Given the description of an element on the screen output the (x, y) to click on. 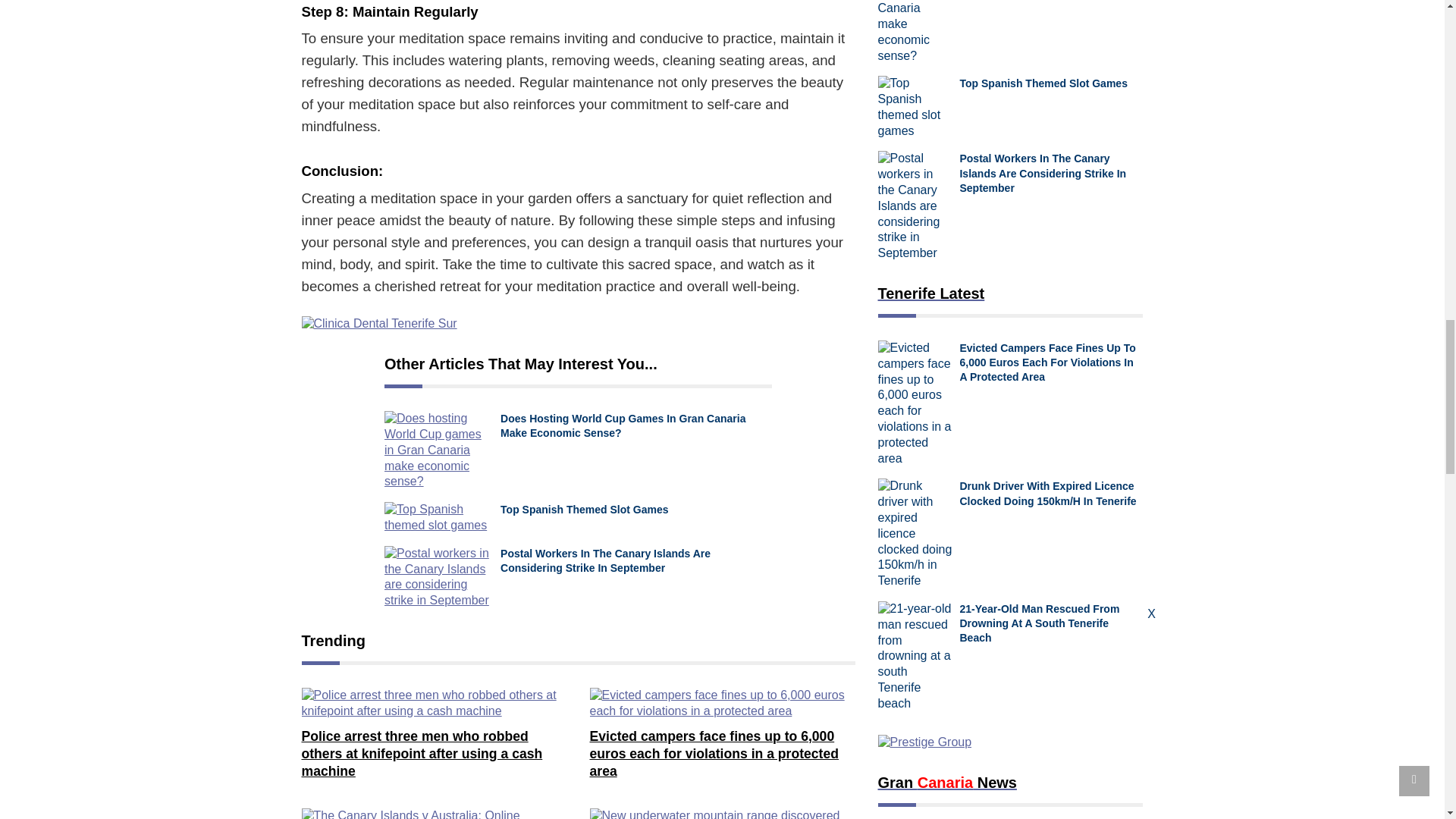
Clinica Dental Tenerife Sur (379, 324)
Top Spanish themed slot games (438, 517)
The Canary Islands v Australia: Online gambling laws (434, 813)
